Given the description of an element on the screen output the (x, y) to click on. 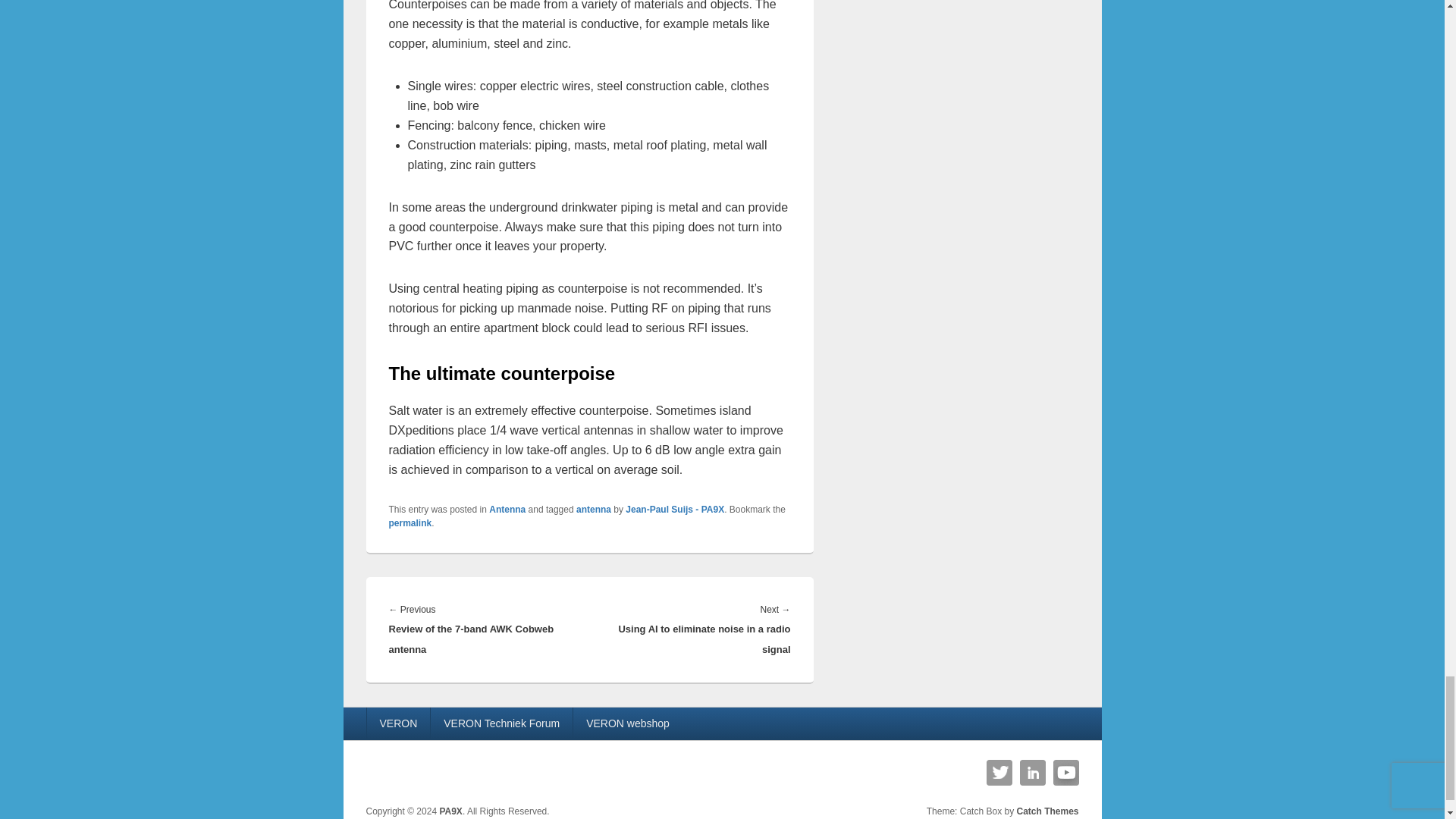
Jean-Paul Suijs - PA9X (674, 509)
PA9X (450, 810)
permalink (409, 522)
Permalink to Why does an antenna require a counterpoise? (409, 522)
Antenna (507, 509)
antenna (593, 509)
